Given the description of an element on the screen output the (x, y) to click on. 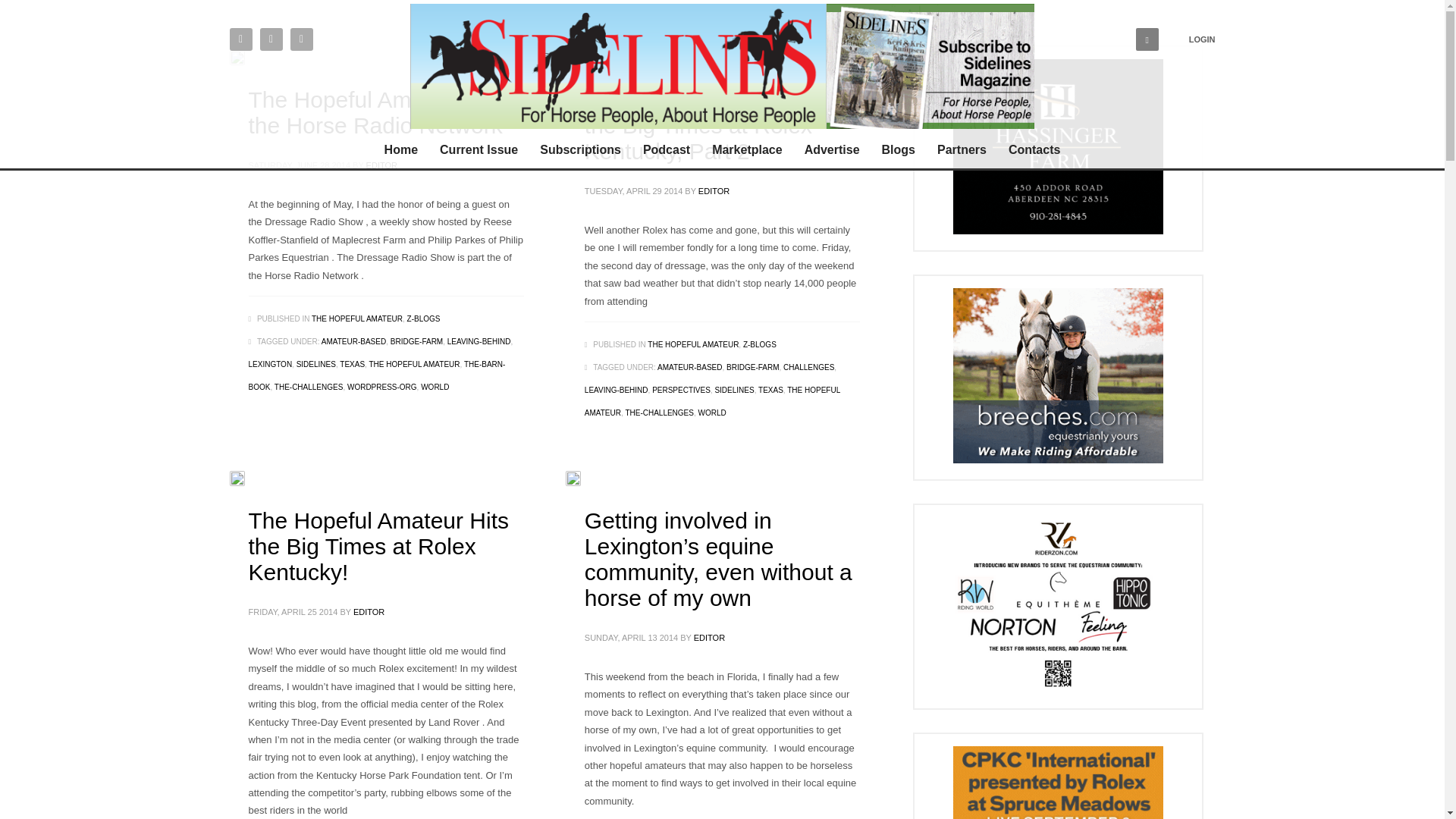
Subscriptions (580, 149)
LOGIN (1202, 39)
Blogs (898, 149)
Posts by Editor (709, 637)
Instagram (301, 38)
Partners (961, 149)
Twitter (239, 38)
Marketplace (747, 149)
Advertise (831, 149)
For Horse People, About Horse People (618, 66)
